Given the description of an element on the screen output the (x, y) to click on. 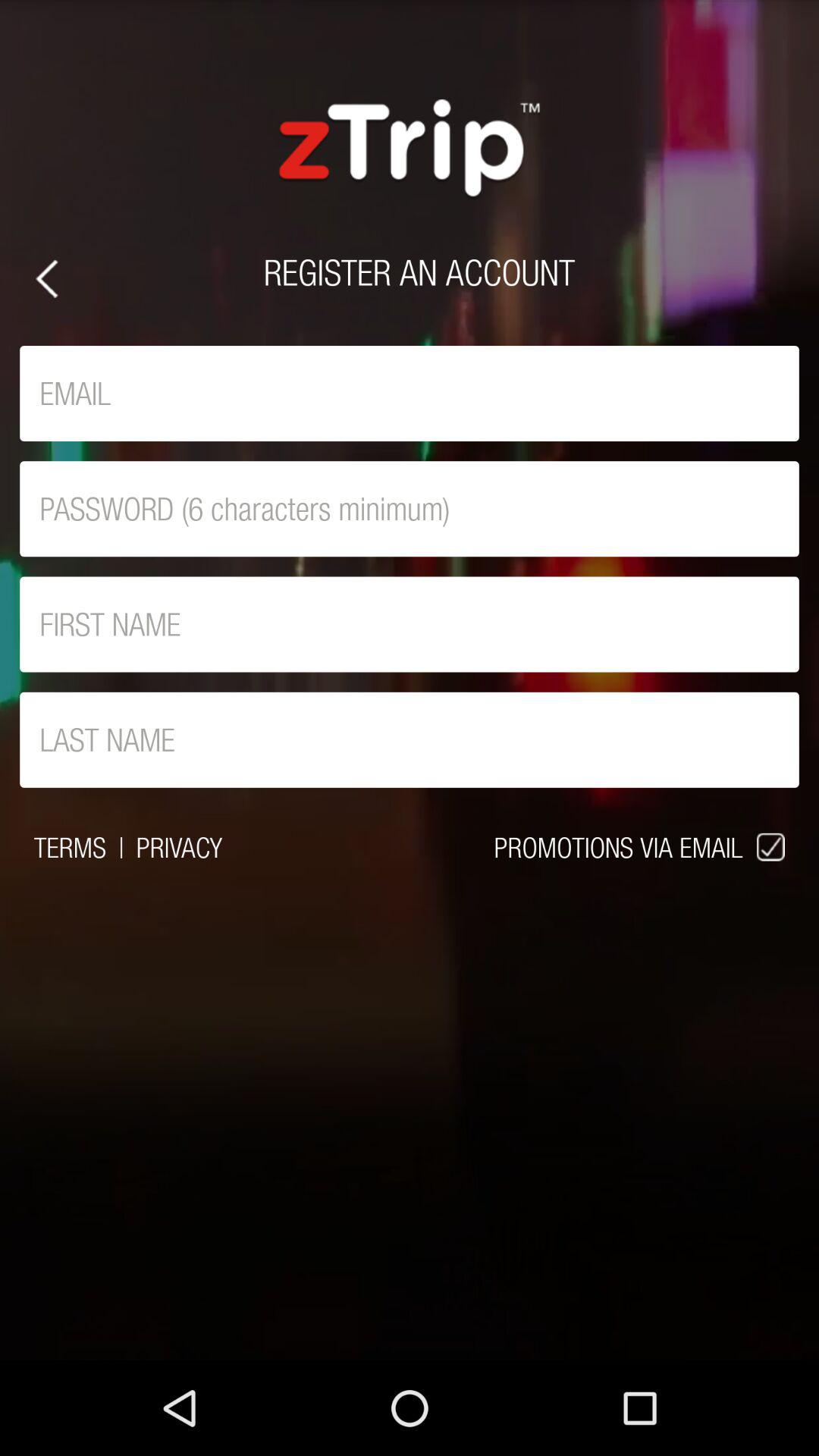
flip until privacy item (179, 847)
